Given the description of an element on the screen output the (x, y) to click on. 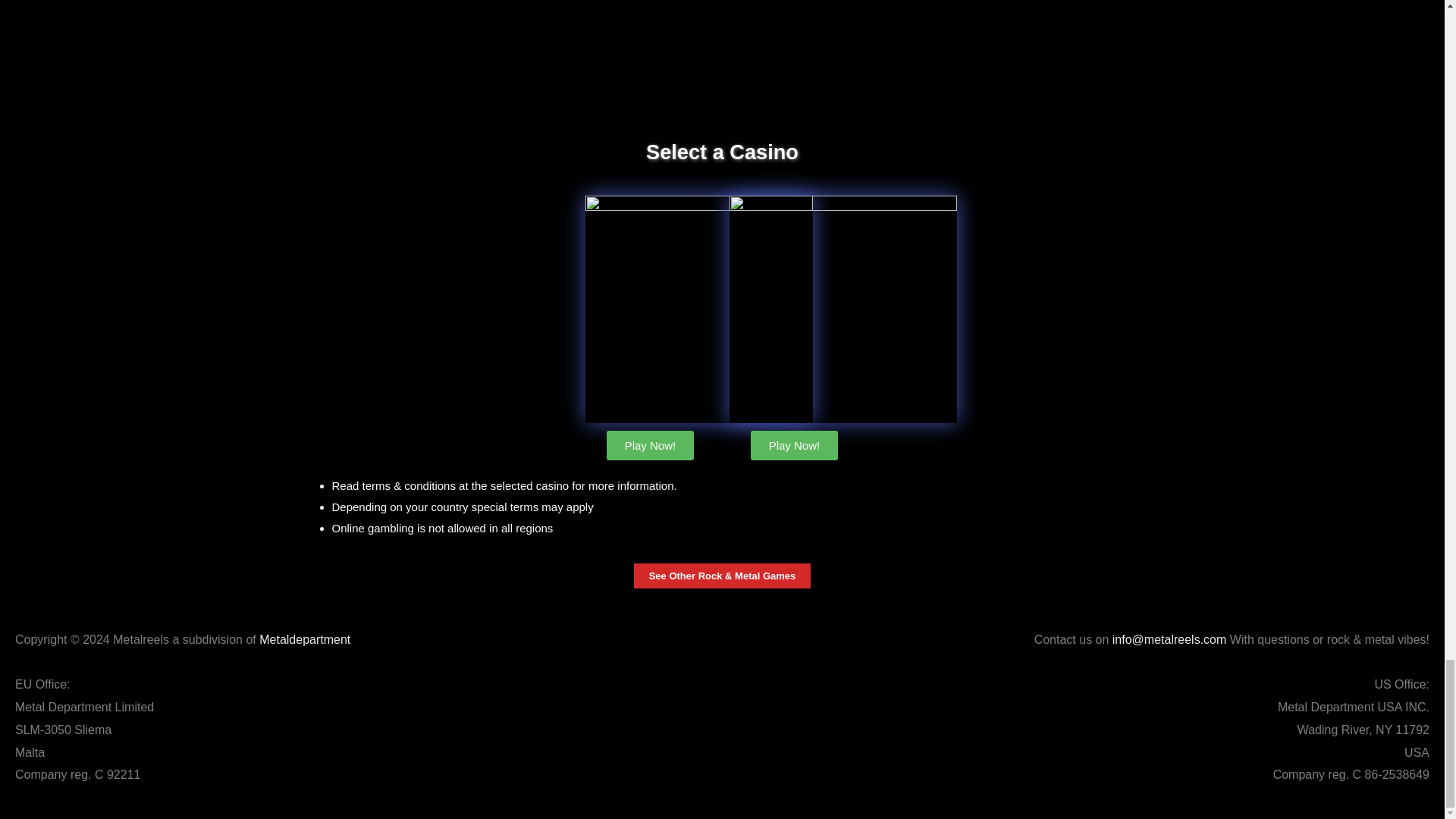
Metaldepartment (304, 639)
Play Now! (794, 445)
Play Now! (650, 445)
